Given the description of an element on the screen output the (x, y) to click on. 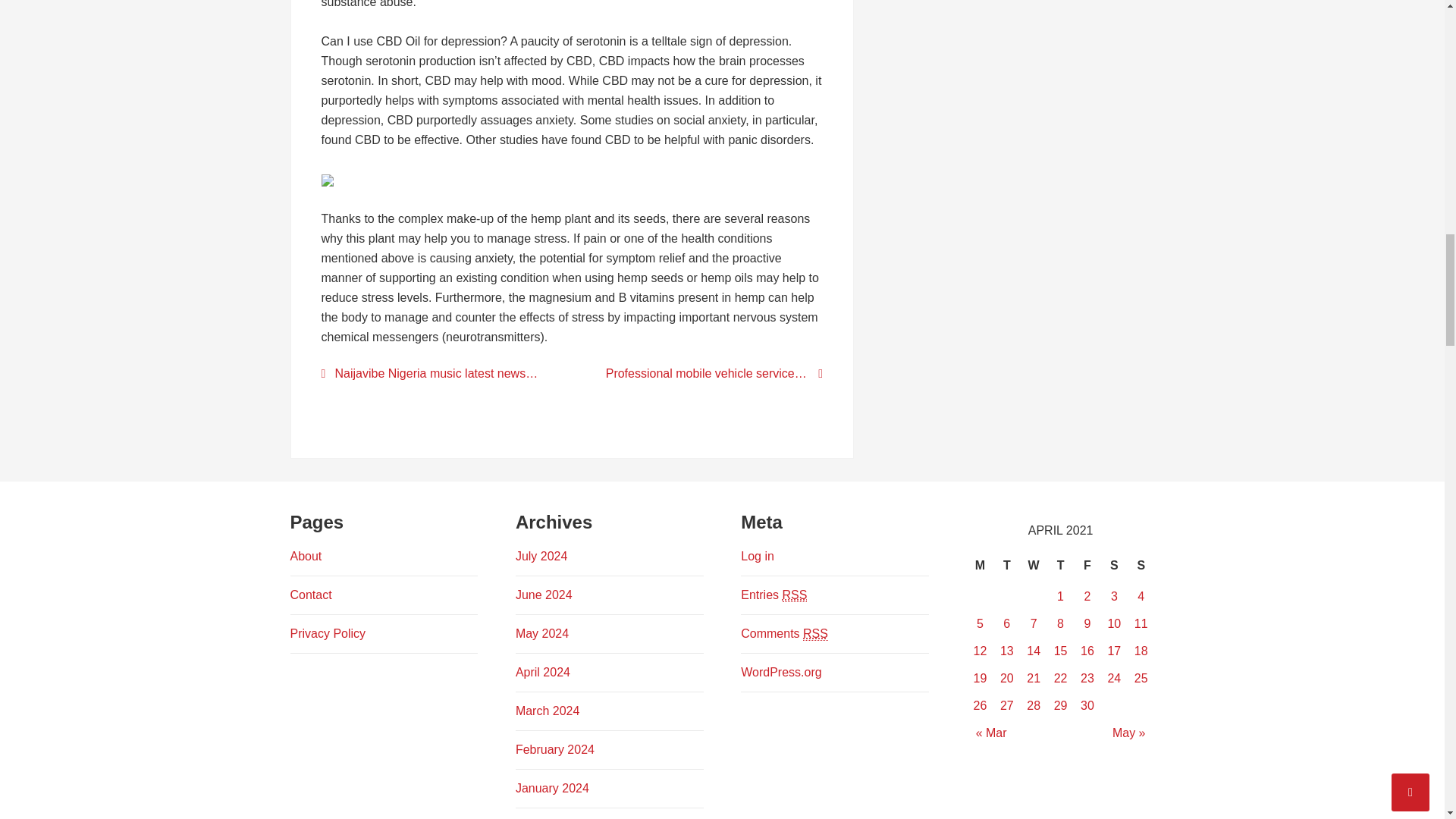
Professional mobile vehicle service Reading, UK today (707, 373)
Naijavibe Nigeria music latest news 2021 (436, 373)
Really Simple Syndication (795, 594)
Really Simple Syndication (815, 633)
